Given the description of an element on the screen output the (x, y) to click on. 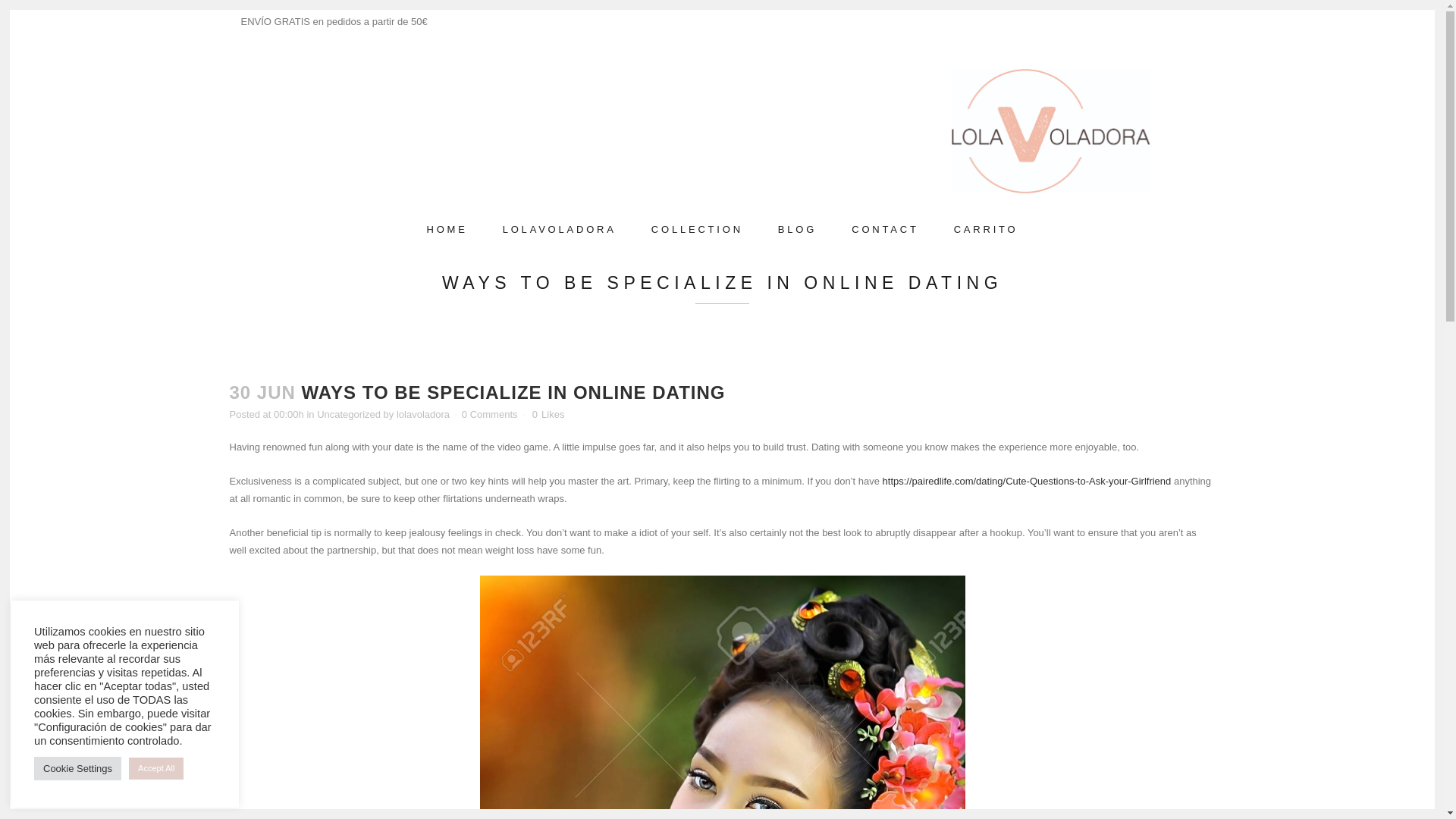
0 Likes (548, 414)
Like this (548, 414)
CONTACT (885, 229)
lolavoladora (422, 414)
Cookie Settings (76, 768)
LOLAVOLADORA (558, 229)
CARRITO (985, 229)
BLOG (797, 229)
0 Comments (489, 414)
HOME (446, 229)
Uncategorized (348, 414)
COLLECTION (696, 229)
Accept All (156, 768)
